Given the description of an element on the screen output the (x, y) to click on. 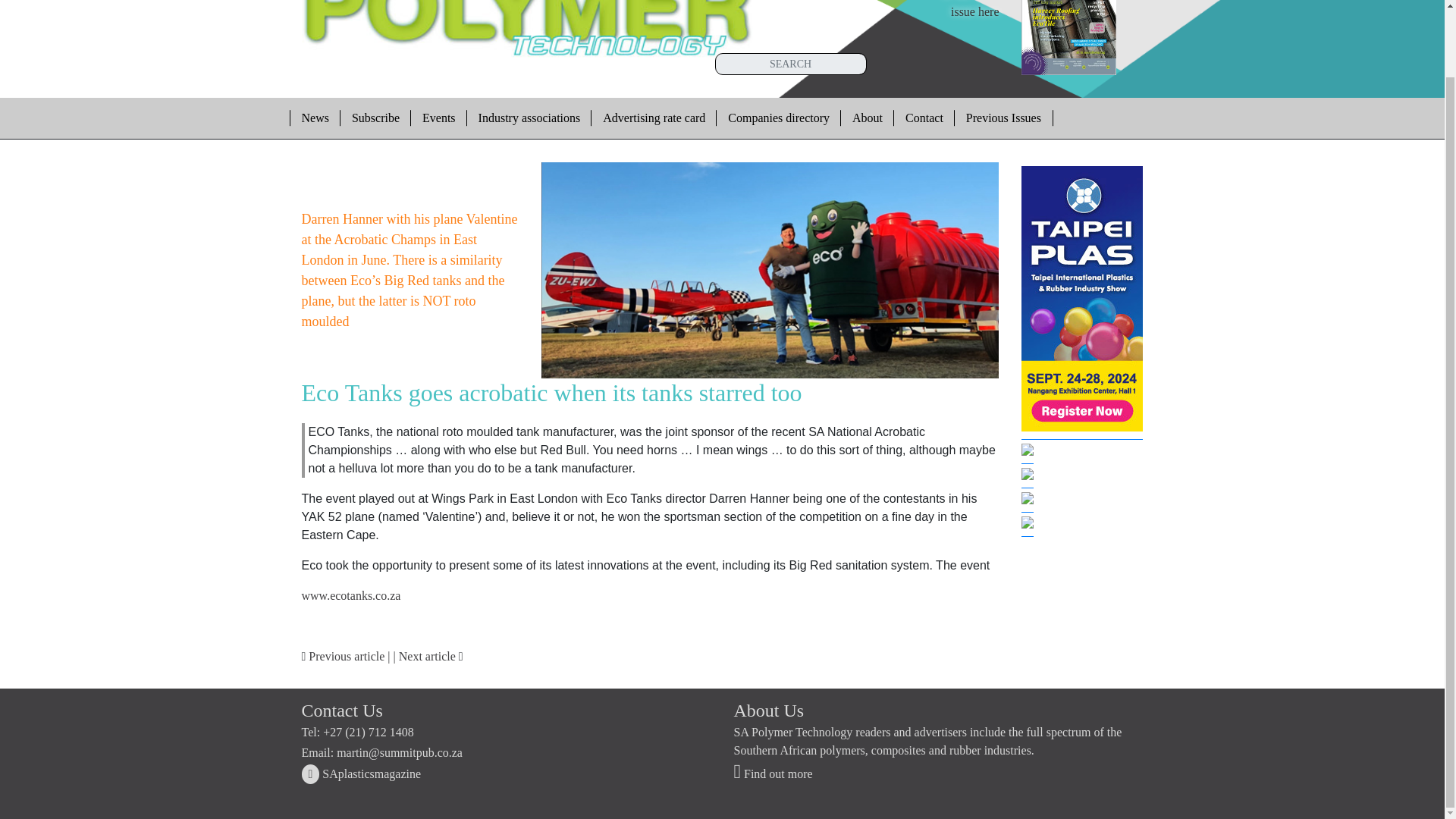
Advertising rate card (653, 117)
About (867, 117)
Contact (924, 117)
News (964, 9)
Previous Issues (314, 117)
Industry associations (1003, 117)
Events (529, 117)
www.ecotanks.co.za (438, 117)
Companies directory (351, 594)
Subscribe (778, 117)
 Find out more (375, 117)
 SAplasticsmagazine (772, 773)
